Given the description of an element on the screen output the (x, y) to click on. 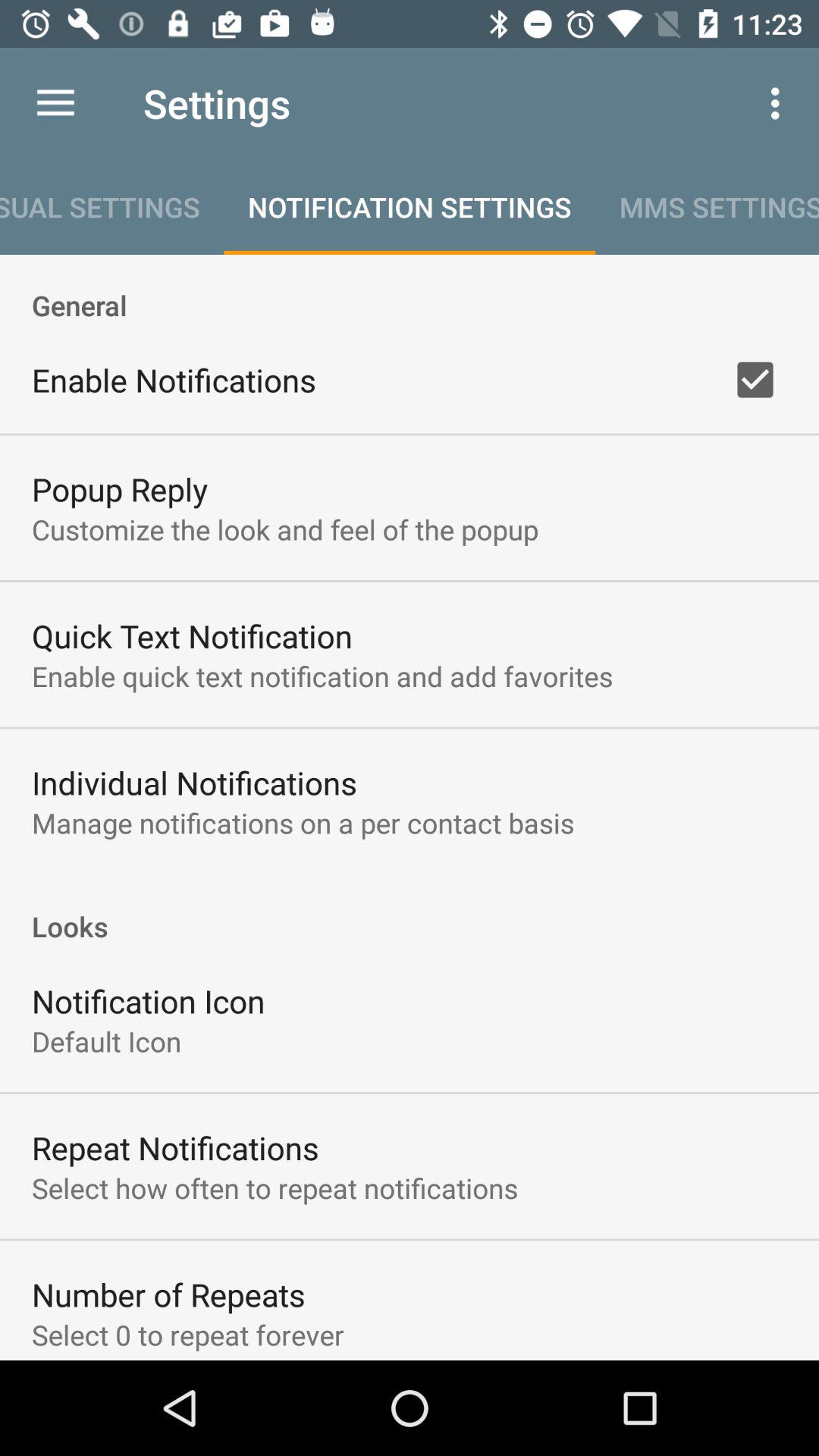
jump to the manage notifications on (302, 822)
